Given the description of an element on the screen output the (x, y) to click on. 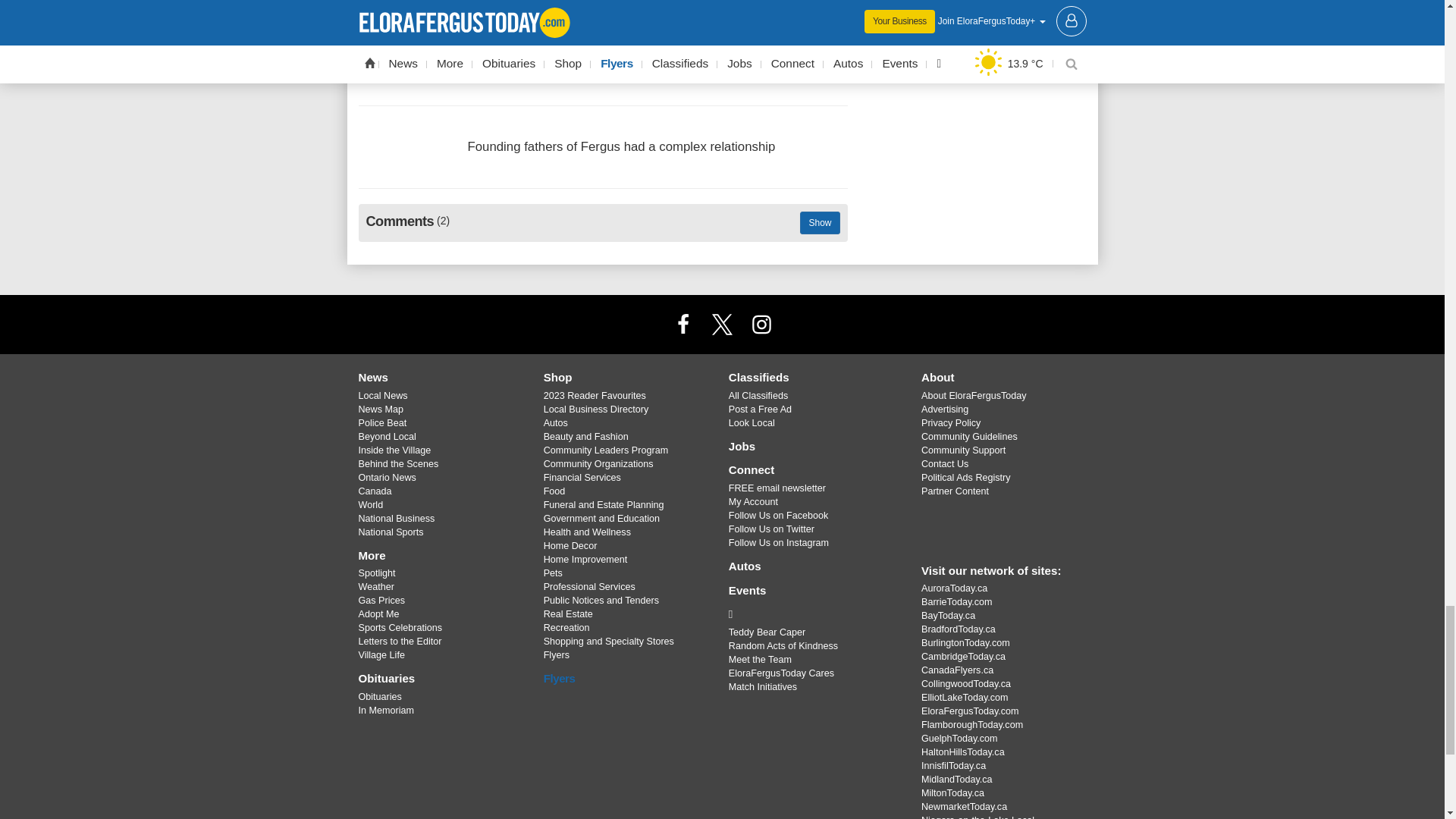
EloraFergusToday Cares (813, 614)
Instagram (760, 324)
X (721, 324)
Facebook (683, 324)
